Given the description of an element on the screen output the (x, y) to click on. 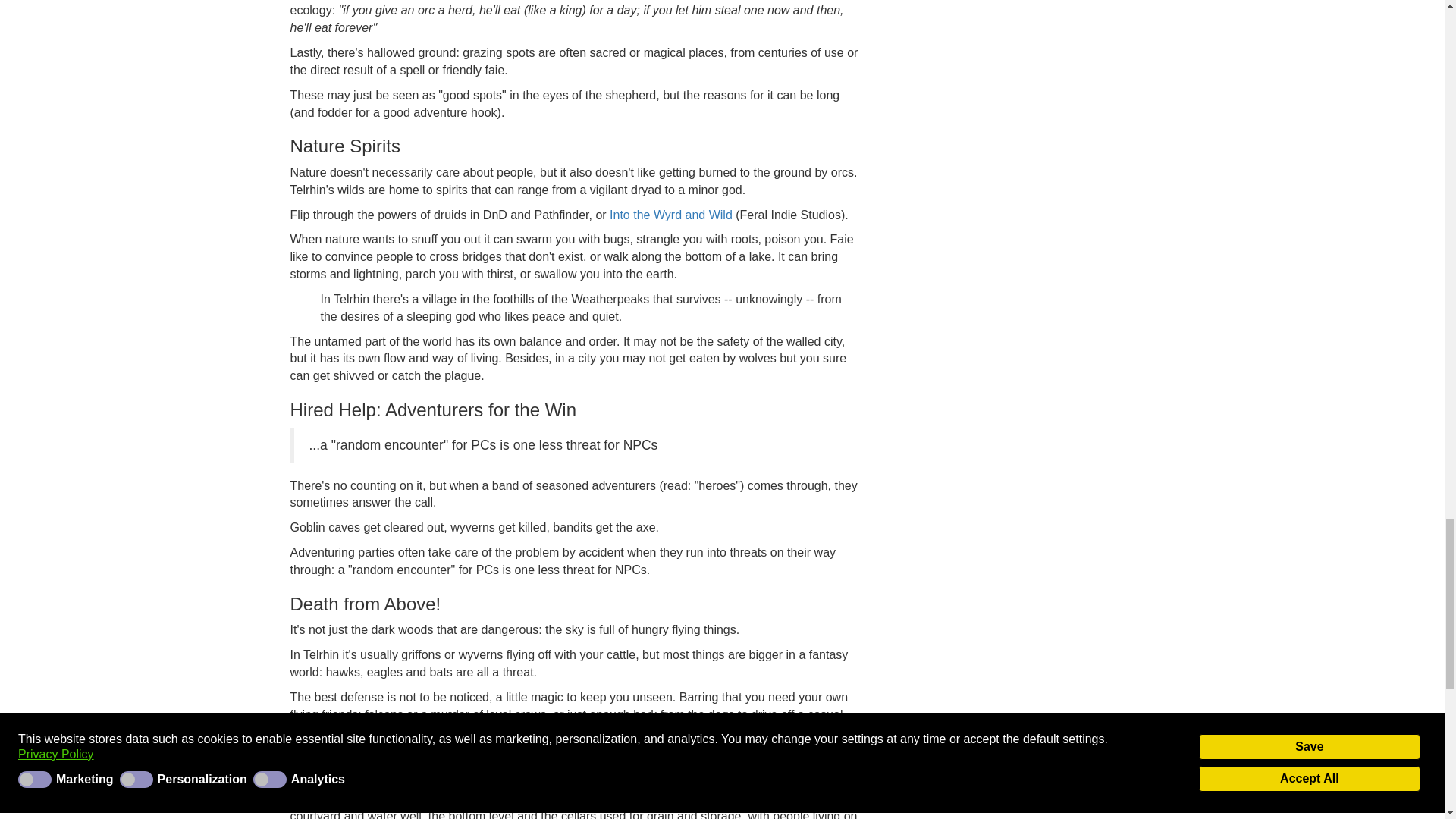
Into the Wyrd and Wild (671, 214)
